Given the description of an element on the screen output the (x, y) to click on. 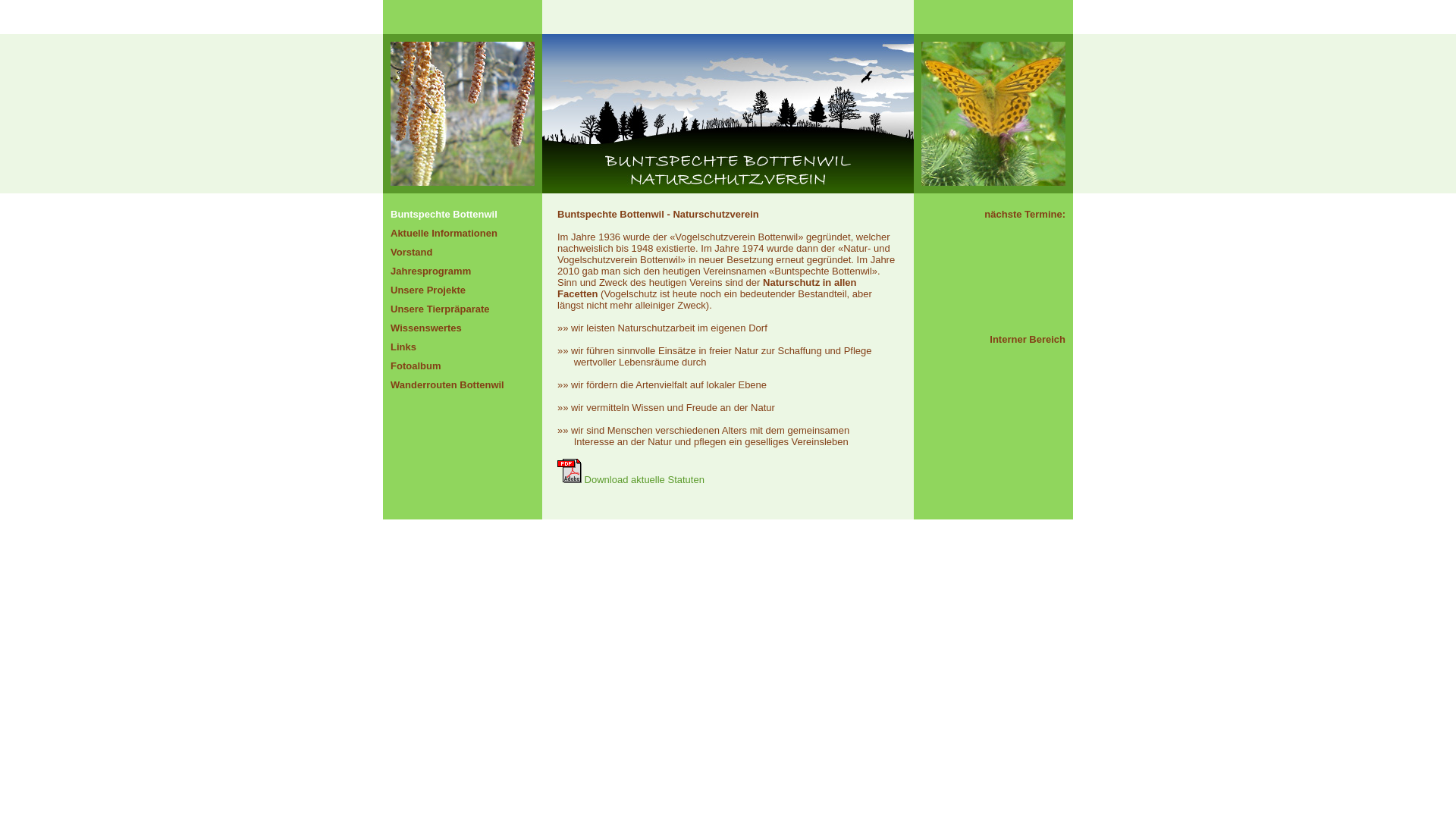
Interner Bereich Element type: text (1027, 339)
Jahresprogramm Element type: text (430, 270)
Unsere Projekte Element type: text (427, 289)
Wissenswertes Element type: text (425, 327)
Fotoalbum Element type: text (415, 365)
Vorstand Element type: text (411, 251)
Aktuelle Informationen Element type: text (443, 232)
Download aktuelle Statuten Element type: text (630, 479)
Wanderrouten Bottenwil Element type: text (447, 384)
Links Element type: text (403, 346)
Buntspechte Bottenwil Element type: text (443, 213)
